Given the description of an element on the screen output the (x, y) to click on. 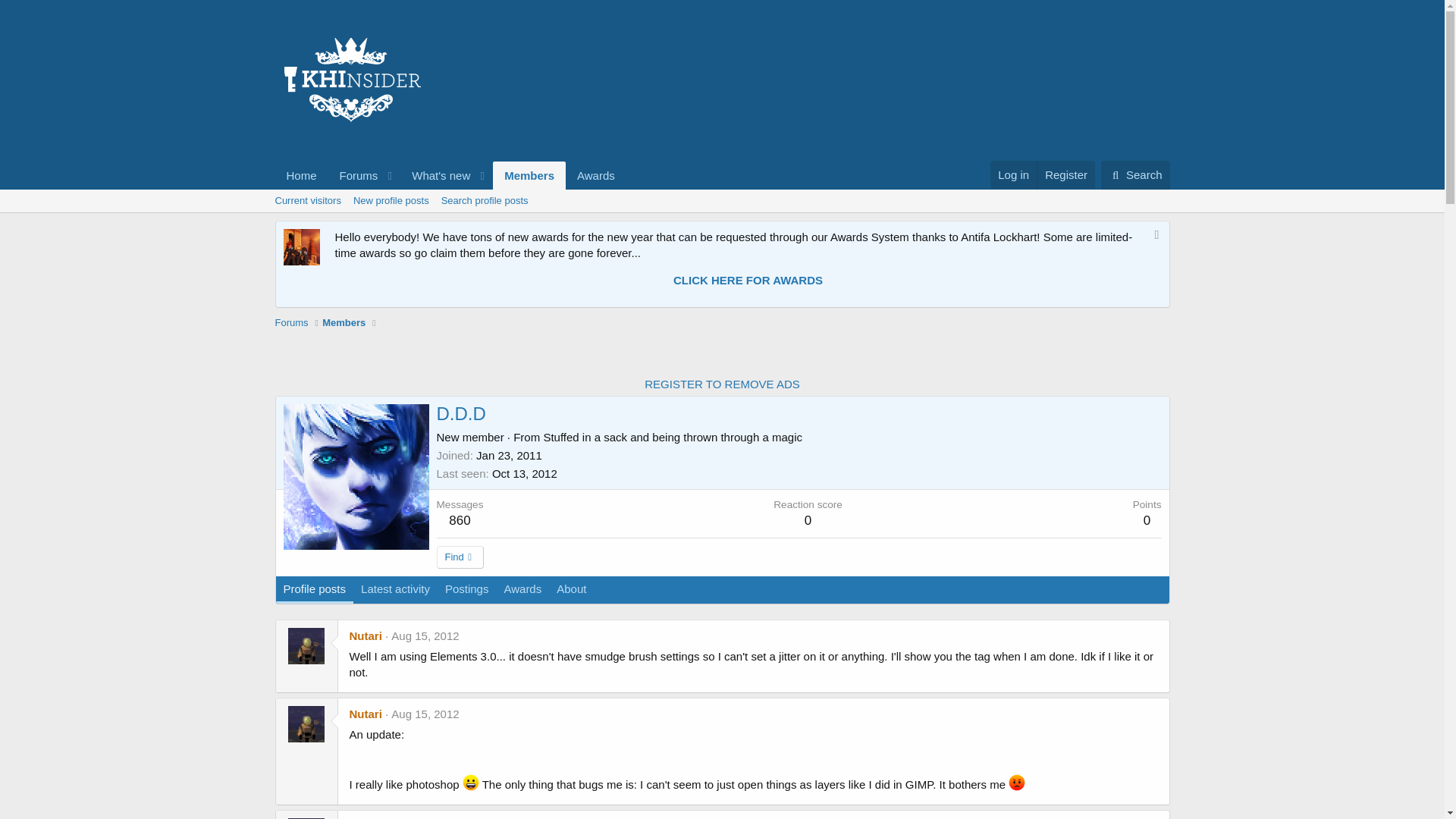
Current visitors (306, 200)
CLICK HERE FOR AWARDS (747, 279)
Aug 15, 2012 at 1:07 AM (449, 175)
Jan 23, 2011 at 2:36 AM (424, 713)
Awards (508, 454)
Search profile posts (596, 175)
Big grin    :D (484, 200)
Log in (471, 782)
Members (1013, 174)
Register (529, 175)
Aug 15, 2012 at 2:31 PM (1065, 174)
Search (424, 635)
Search (1135, 174)
REGISTER TO REMOVE ADS (1135, 174)
